Given the description of an element on the screen output the (x, y) to click on. 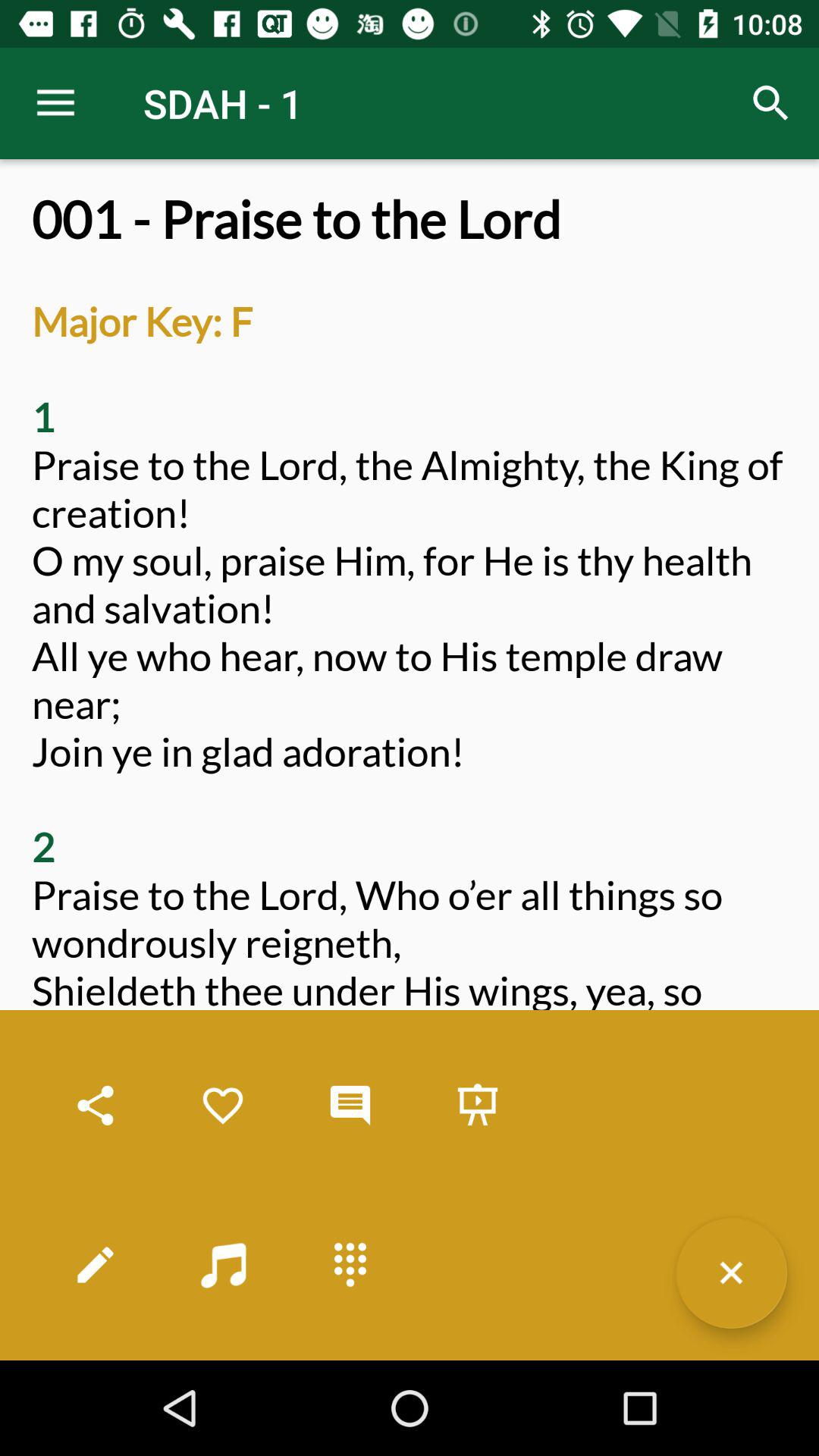
share the passage (95, 1105)
